Given the description of an element on the screen output the (x, y) to click on. 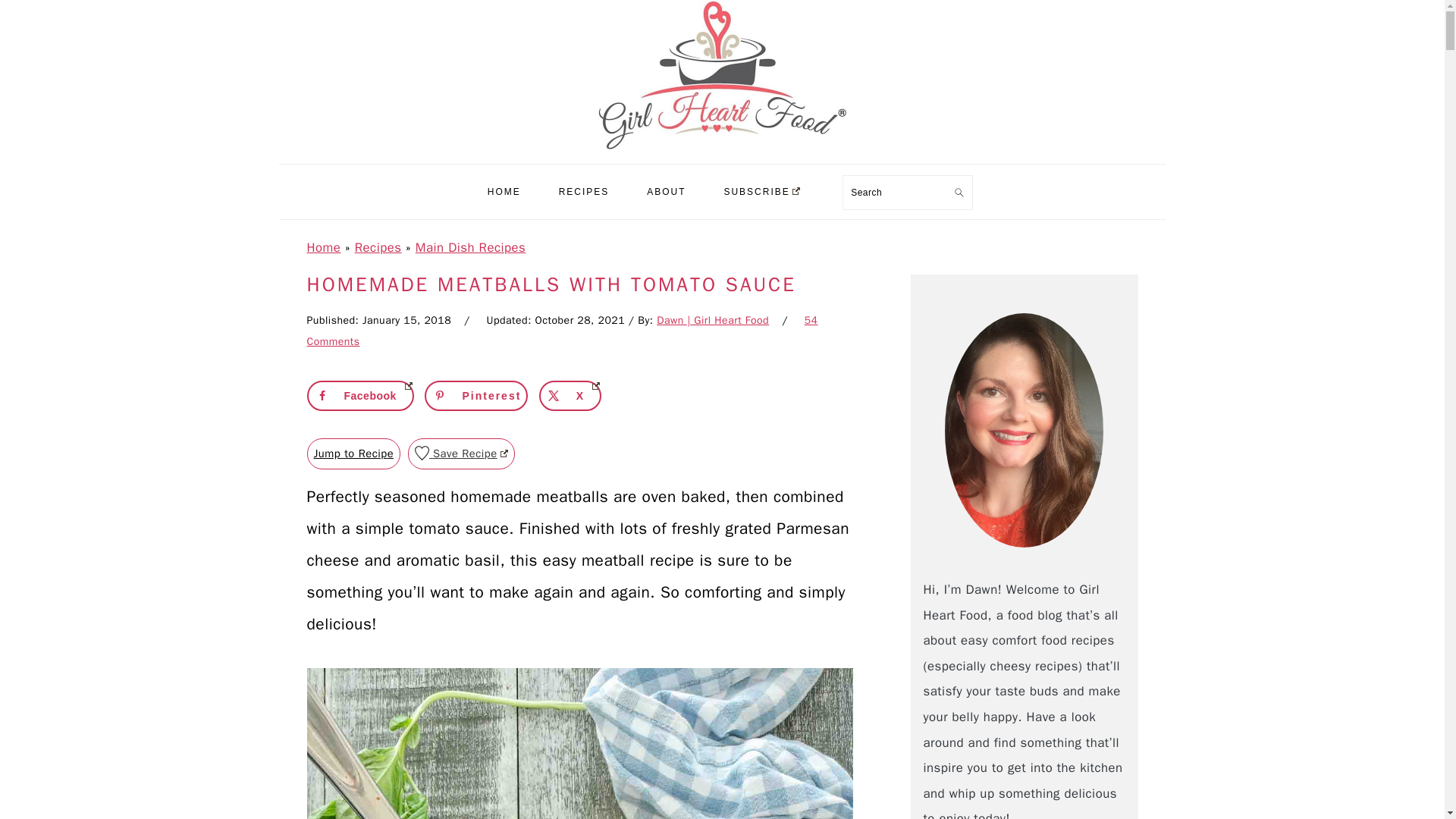
Home (322, 247)
HOME (504, 191)
Save to Pinterest (476, 395)
54 Comments (560, 330)
Jump to Recipe (352, 453)
Share on Facebook (359, 395)
RECIPES (584, 191)
